Given the description of an element on the screen output the (x, y) to click on. 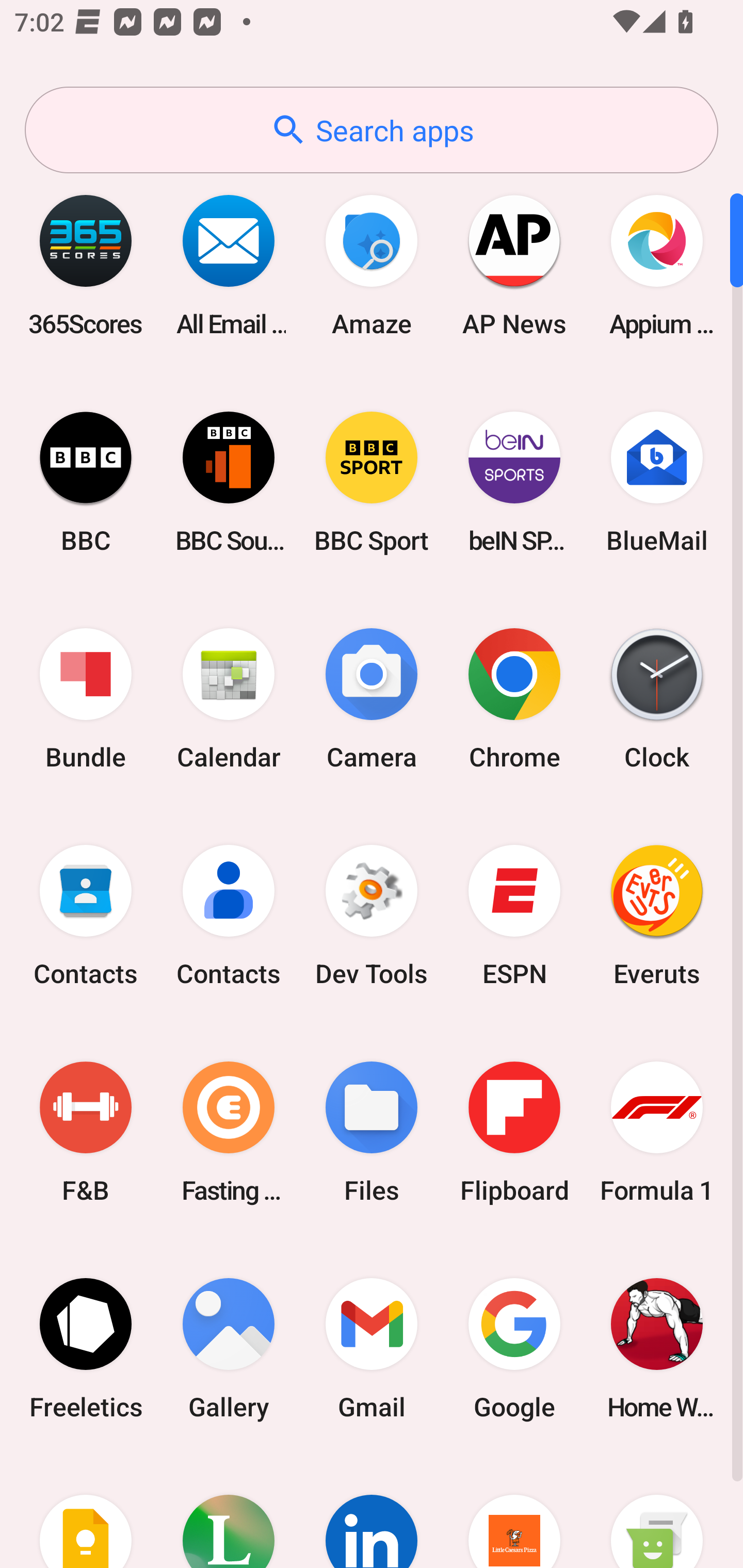
  Search apps (371, 130)
365Scores (85, 264)
All Email Connect (228, 264)
Amaze (371, 264)
AP News (514, 264)
Appium Settings (656, 264)
BBC (85, 482)
BBC Sounds (228, 482)
BBC Sport (371, 482)
beIN SPORTS (514, 482)
BlueMail (656, 482)
Bundle (85, 699)
Calendar (228, 699)
Camera (371, 699)
Chrome (514, 699)
Clock (656, 699)
Contacts (85, 915)
Contacts (228, 915)
Dev Tools (371, 915)
ESPN (514, 915)
Everuts (656, 915)
F&B (85, 1131)
Fasting Coach (228, 1131)
Files (371, 1131)
Flipboard (514, 1131)
Formula 1 (656, 1131)
Freeletics (85, 1348)
Gallery (228, 1348)
Gmail (371, 1348)
Google (514, 1348)
Home Workout (656, 1348)
